Given the description of an element on the screen output the (x, y) to click on. 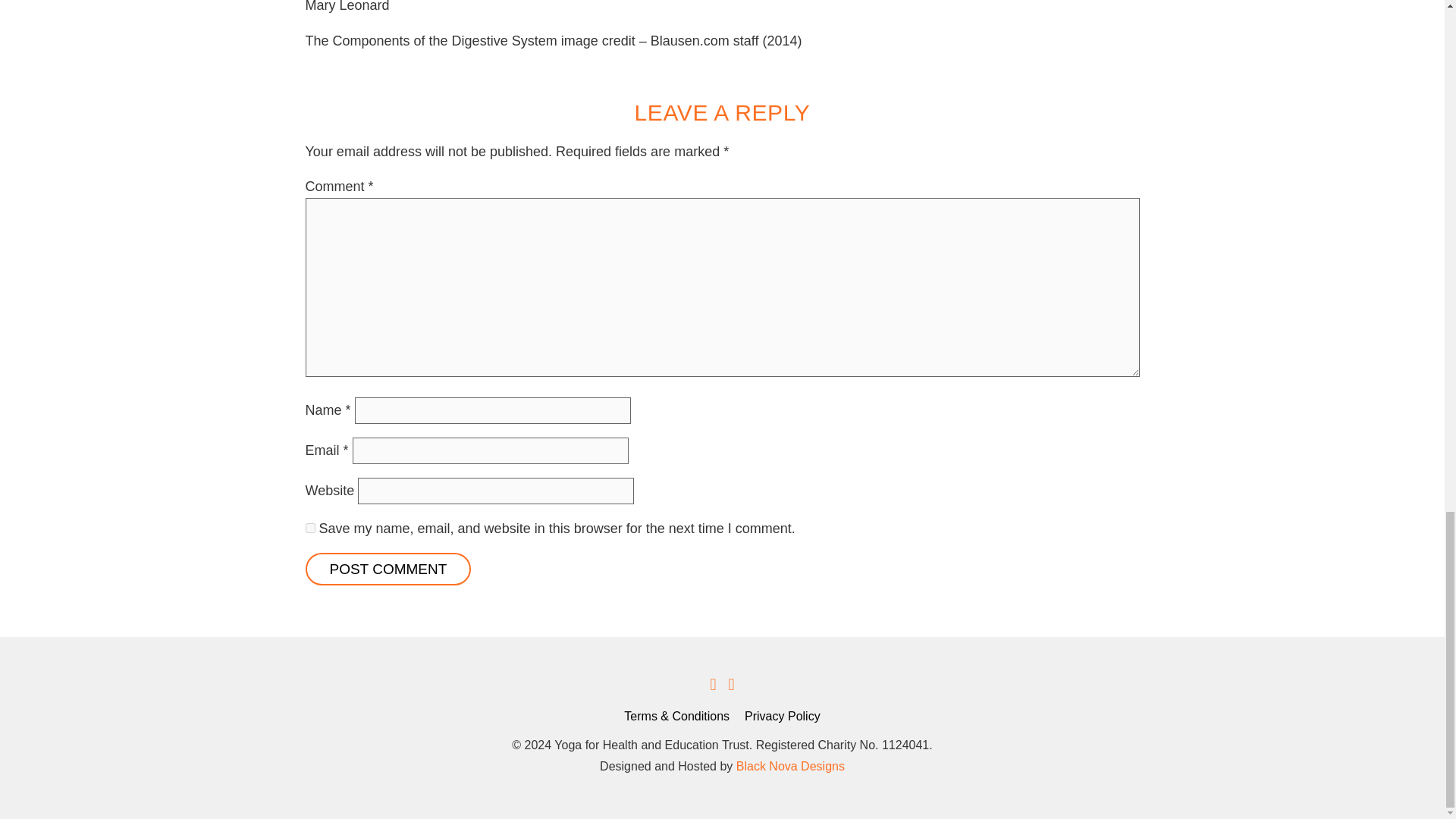
Black Nova Designs (790, 766)
yes (309, 528)
Post Comment (387, 568)
Post Comment (387, 568)
Privacy Policy (782, 716)
